Given the description of an element on the screen output the (x, y) to click on. 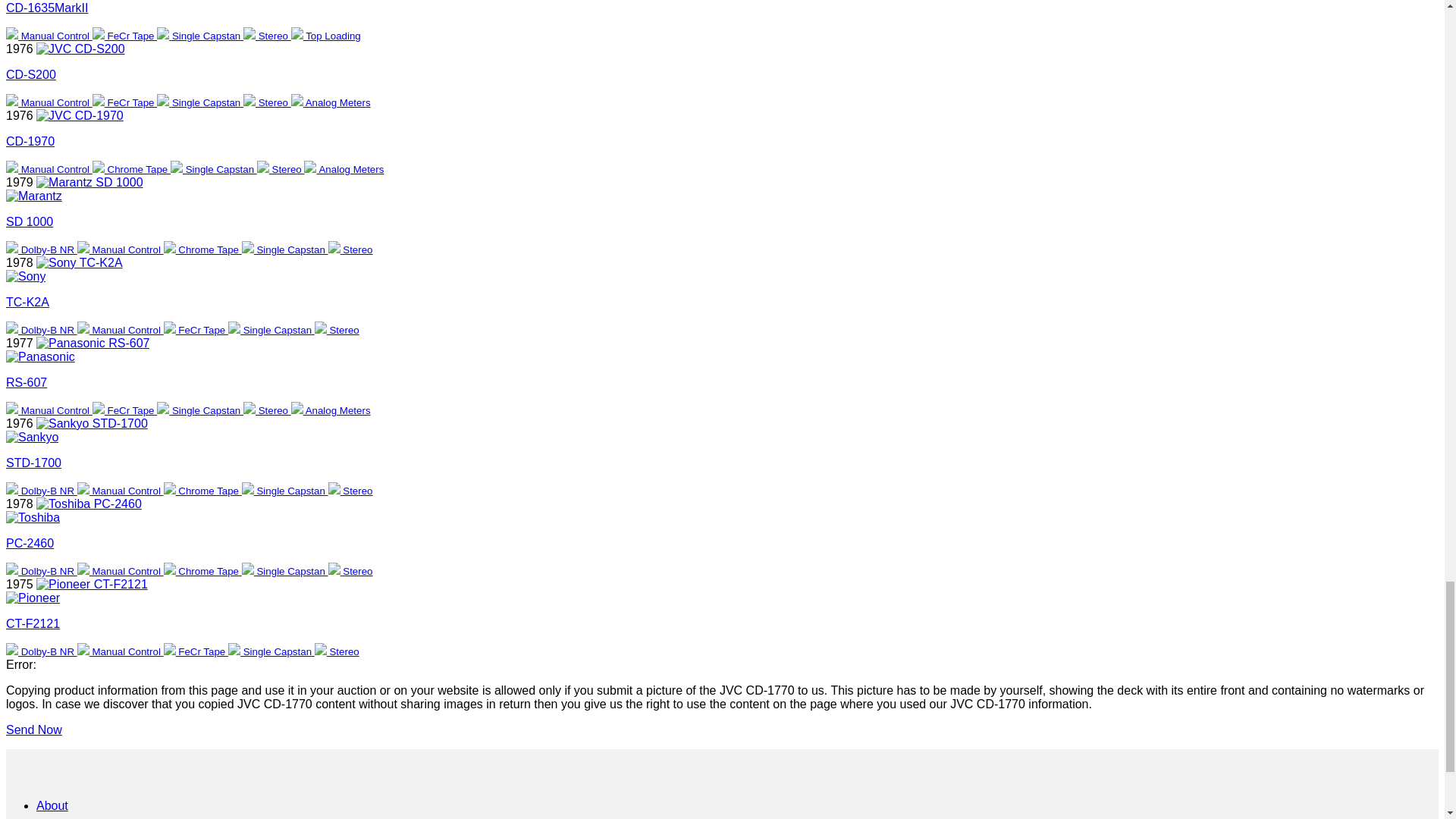
Send Now (33, 729)
About (52, 805)
